Given the description of an element on the screen output the (x, y) to click on. 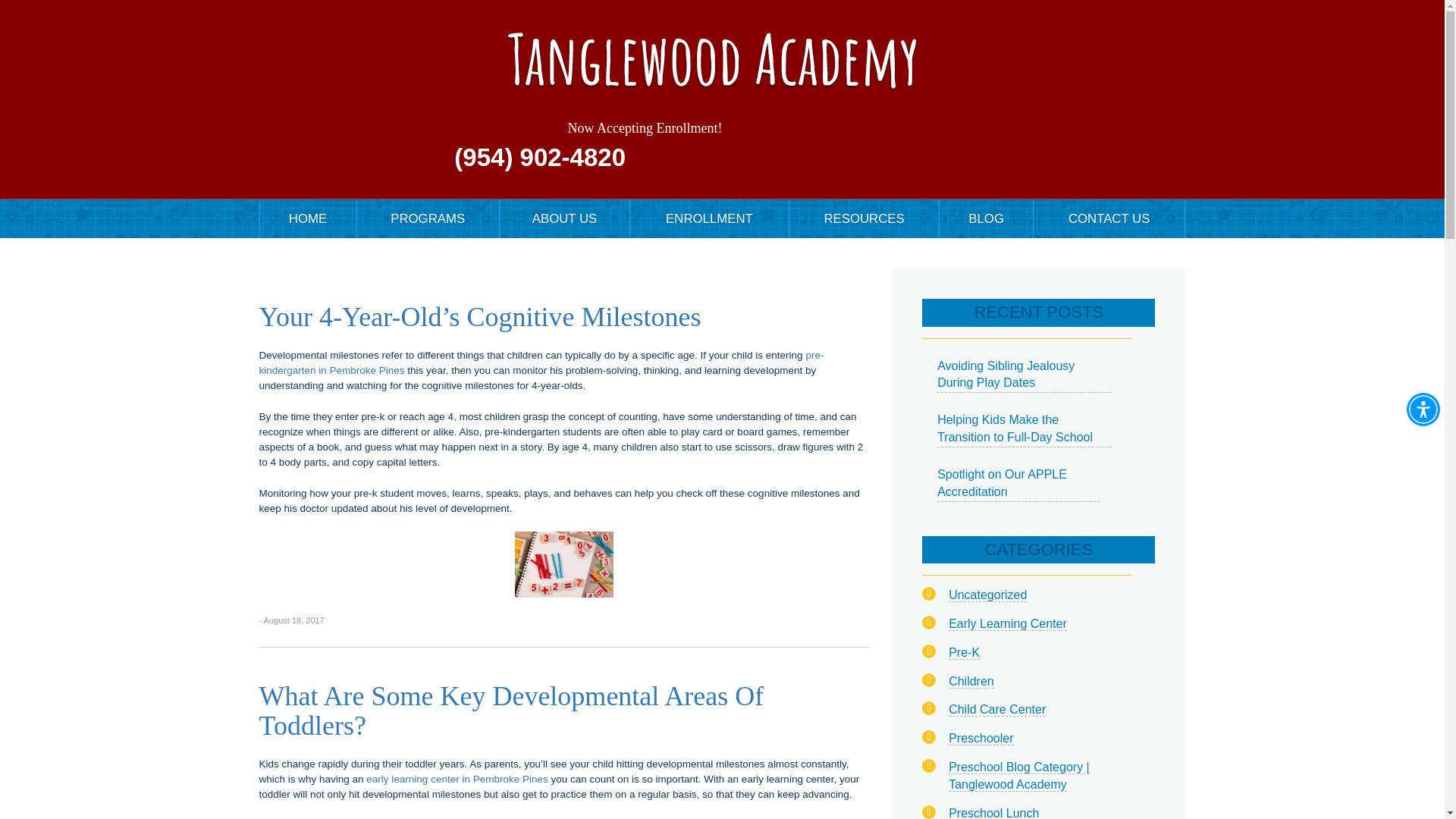
early learning center in Pembroke Pines (458, 778)
Accessibility Menu (1422, 409)
CONTACT US (1109, 218)
BLOG (985, 218)
ABOUT US (563, 218)
HOME (307, 218)
What Are Some Key Developmental Areas Of Toddlers? (511, 711)
ENROLLMENT (708, 218)
PROGRAMS (427, 218)
- August 18, 2017 (291, 619)
RESOURCES (864, 218)
pre-kindergarten in Pembroke Pines (541, 362)
4-Year-Old's Cognitive Milestones (563, 564)
